Given the description of an element on the screen output the (x, y) to click on. 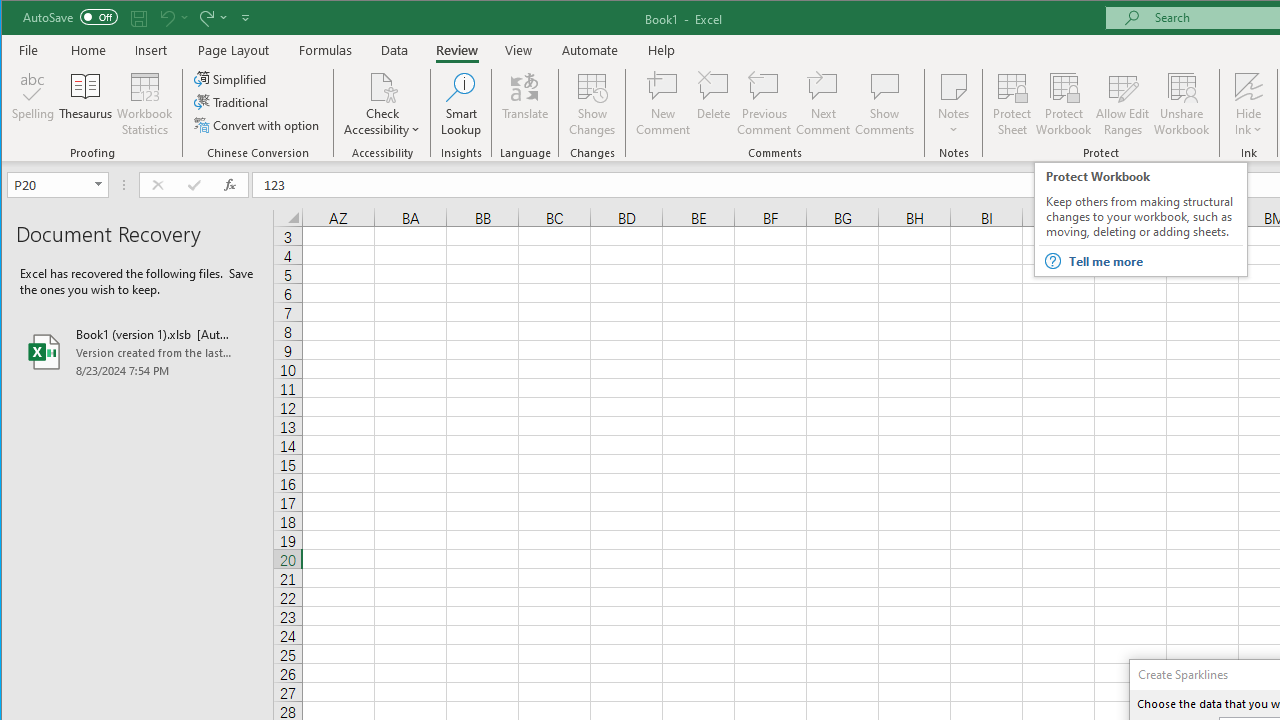
Workbook Statistics (145, 104)
Protect Sheet... (1012, 104)
Automate (589, 50)
Check Accessibility (381, 104)
Simplified (231, 78)
